Given the description of an element on the screen output the (x, y) to click on. 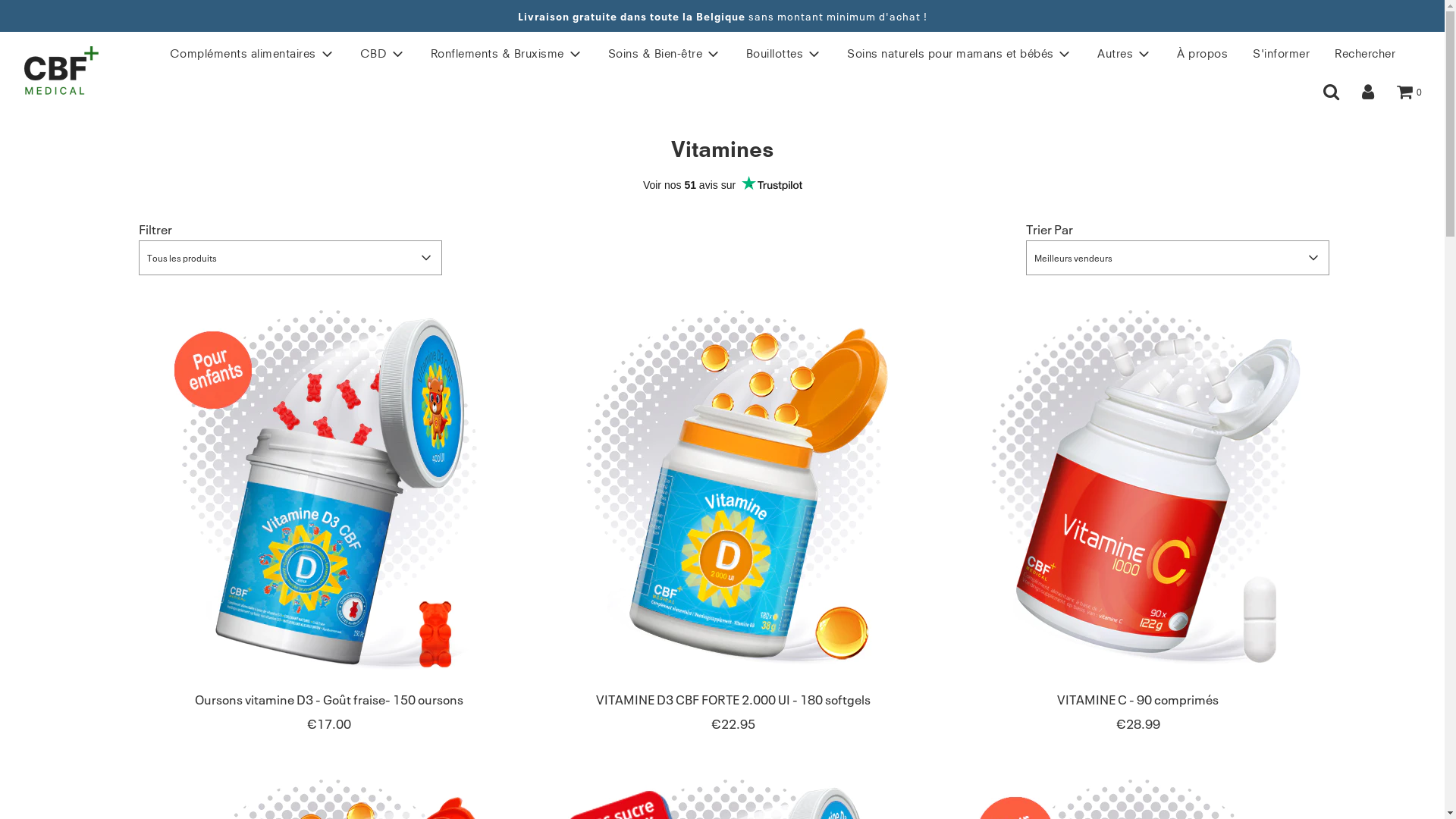
0 Element type: text (1408, 91)
VITAMINE D3 CBF FORTE 2.000 UI - 180 softgels Element type: hover (733, 487)
Customer reviews powered by Trustpilot Element type: hover (721, 184)
Tous les produits Element type: text (289, 257)
CBD Element type: text (382, 52)
Rechercher Element type: text (1364, 52)
VITAMINE D3 CBF FORTE 2.000 UI - 180 softgels Element type: text (733, 698)
Se connecter Element type: hover (1367, 91)
Autres Element type: text (1124, 52)
S'informer Element type: text (1281, 52)
Bouillottes Element type: text (783, 52)
Meilleurs vendeurs Element type: text (1176, 257)
Ronflements & Bruxisme Element type: text (506, 52)
